Given the description of an element on the screen output the (x, y) to click on. 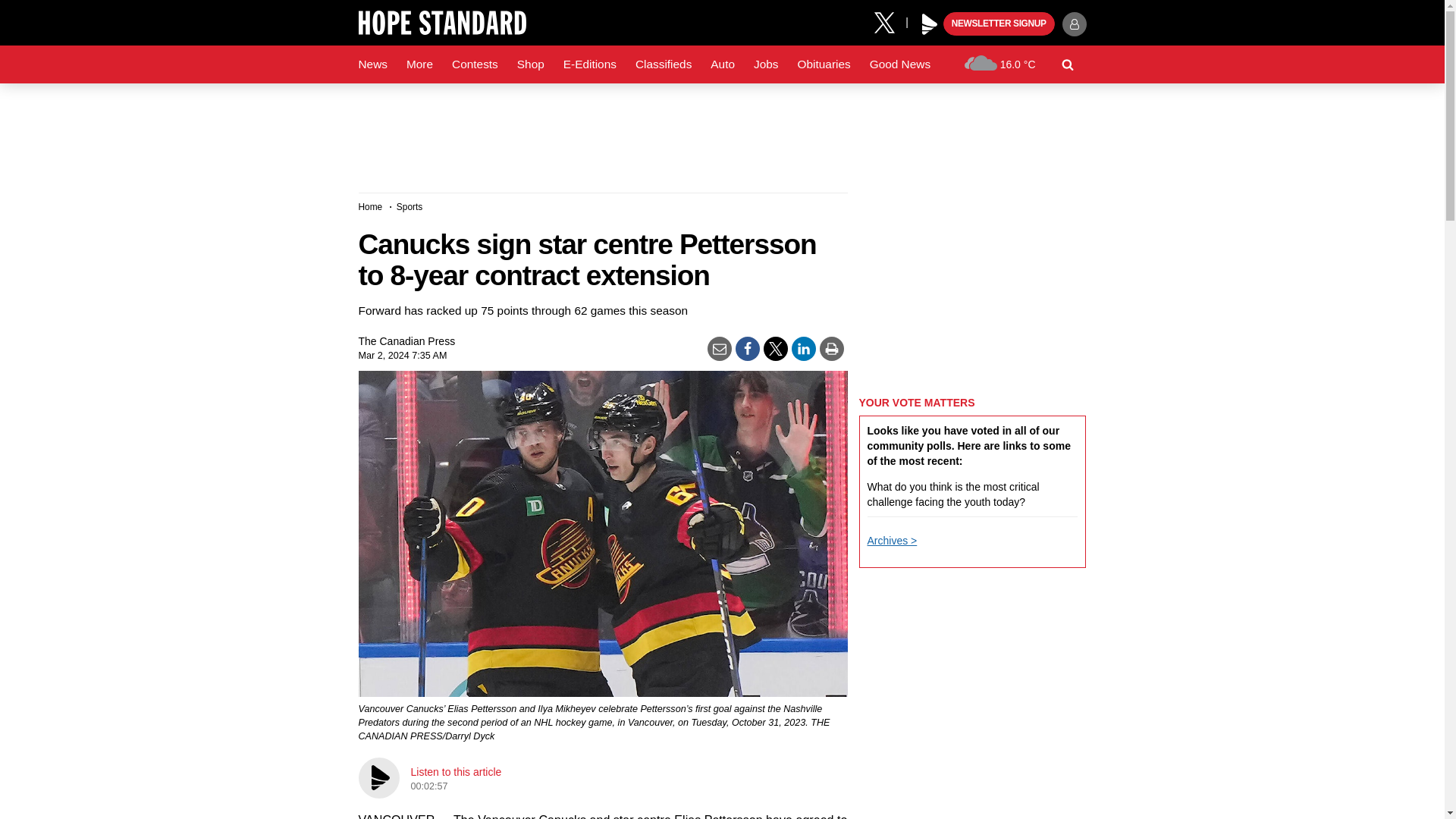
3rd party ad content (972, 678)
News (372, 64)
Black Press Media (929, 24)
3rd party ad content (972, 803)
X (889, 21)
NEWSLETTER SIGNUP (998, 24)
3rd party ad content (721, 131)
3rd party ad content (972, 287)
Play (929, 24)
